Given the description of an element on the screen output the (x, y) to click on. 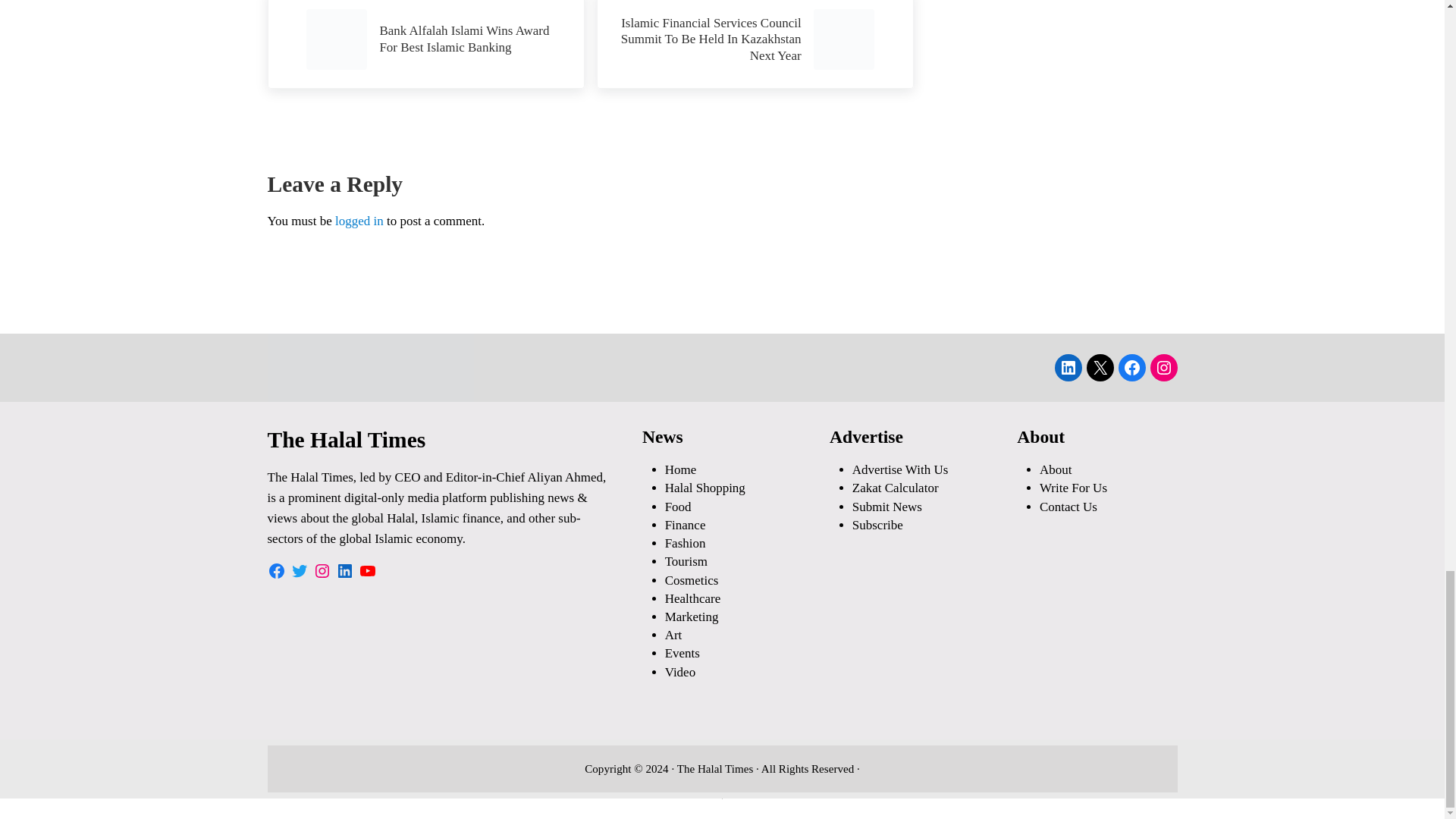
Facebook (1131, 367)
logged in (359, 220)
Instagram (1163, 367)
LinkedIn (1067, 367)
X (1099, 367)
